Given the description of an element on the screen output the (x, y) to click on. 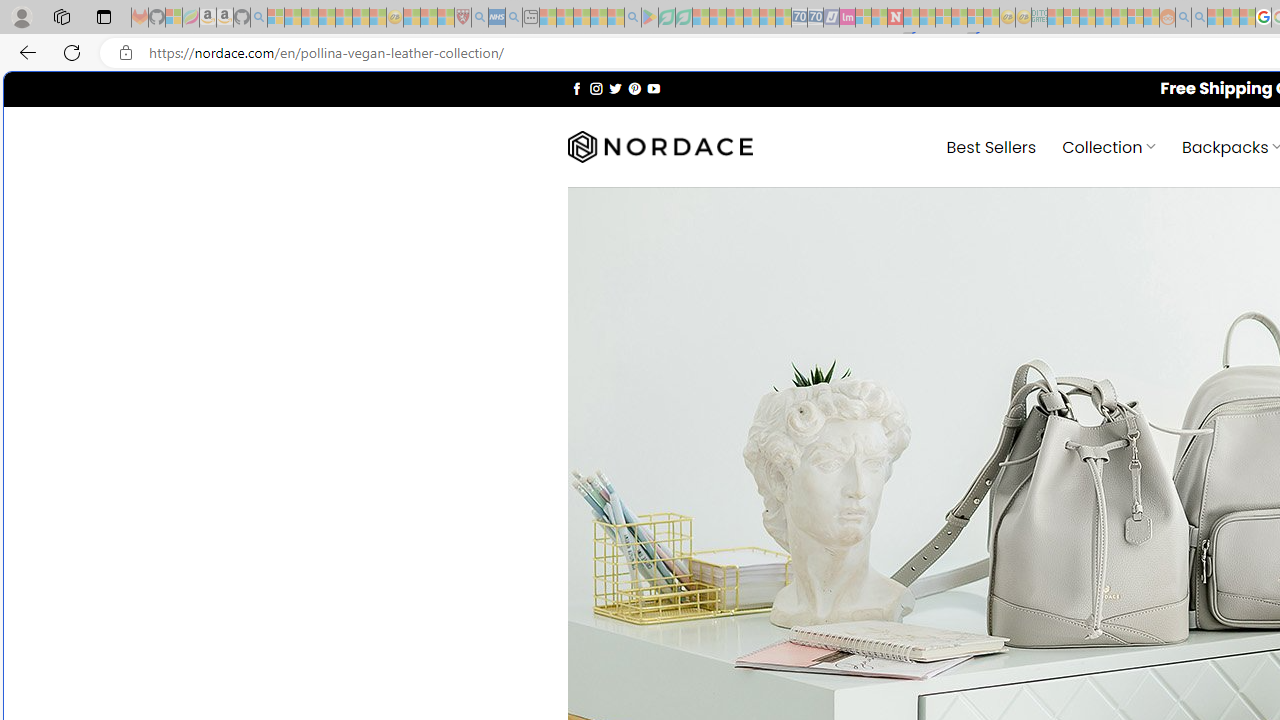
Bluey: Let's Play! - Apps on Google Play - Sleeping (649, 17)
Follow on YouTube (653, 88)
  Best Sellers (990, 146)
14 Common Myths Debunked By Scientific Facts - Sleeping (927, 17)
Kinda Frugal - MSN - Sleeping (1119, 17)
Latest Politics News & Archive | Newsweek.com - Sleeping (895, 17)
